Given the description of an element on the screen output the (x, y) to click on. 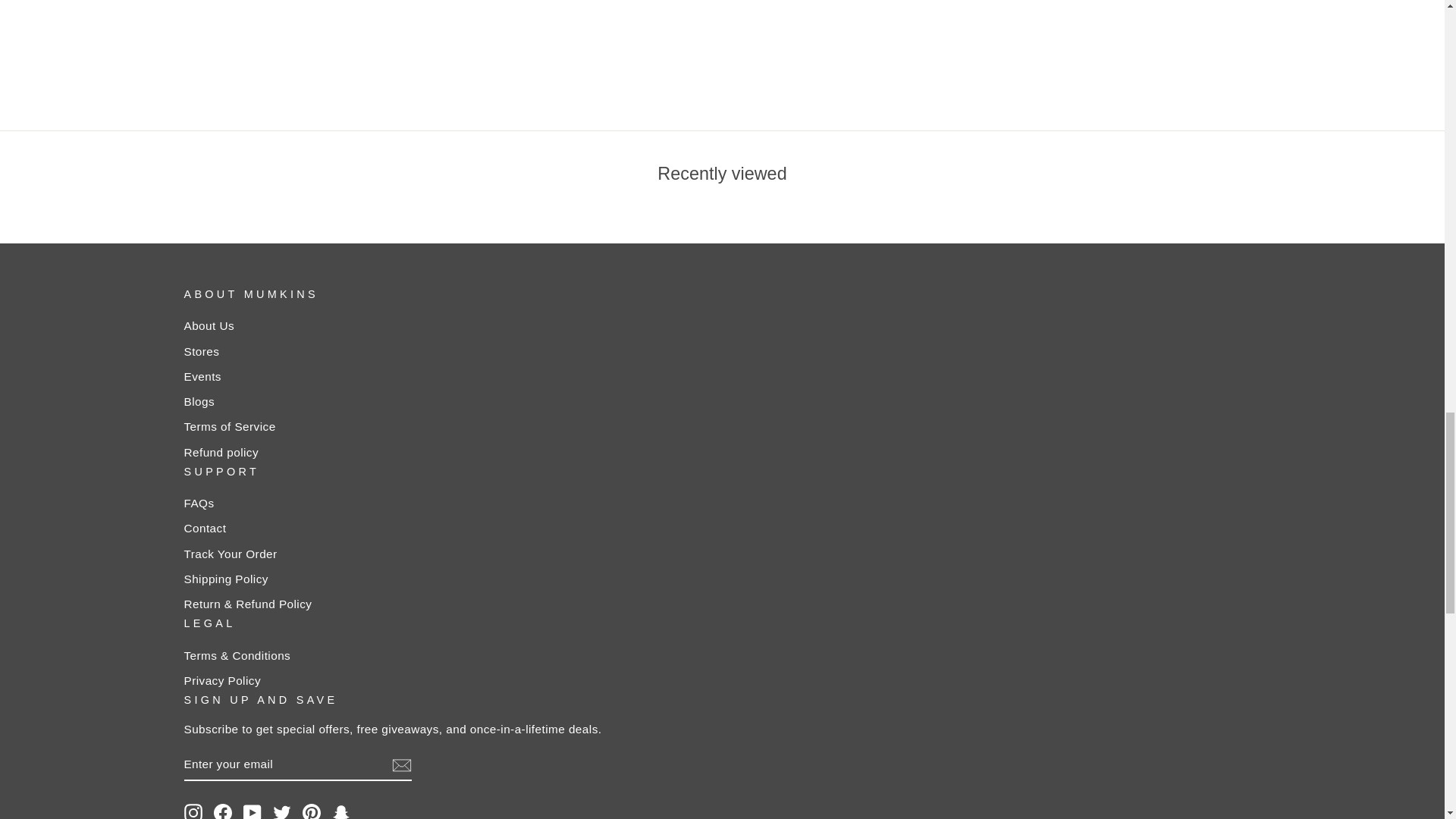
Mumkins on Pinterest (310, 811)
Mumkins on Twitter (282, 811)
Mumkins on YouTube (251, 811)
Mumkins on Instagram (192, 811)
Mumkins on Facebook (222, 811)
